Given the description of an element on the screen output the (x, y) to click on. 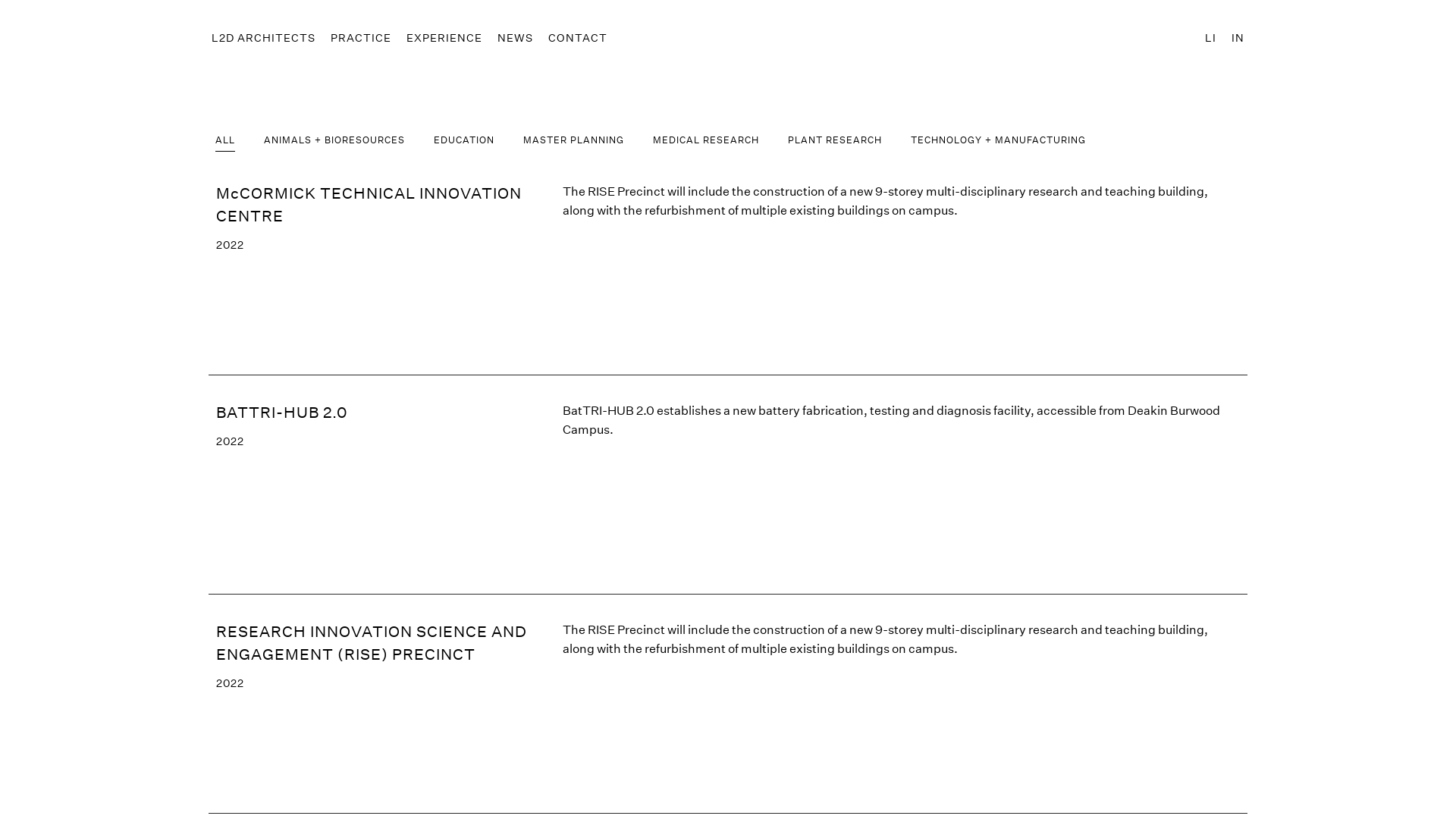
IN Element type: text (1237, 37)
NEWS Element type: text (514, 37)
L2D ARCHITECTS Element type: text (263, 37)
PRACTICE Element type: text (360, 37)
CONTACT Element type: text (577, 37)
EXPERIENCE Element type: text (444, 37)
LI Element type: text (1210, 37)
